Given the description of an element on the screen output the (x, y) to click on. 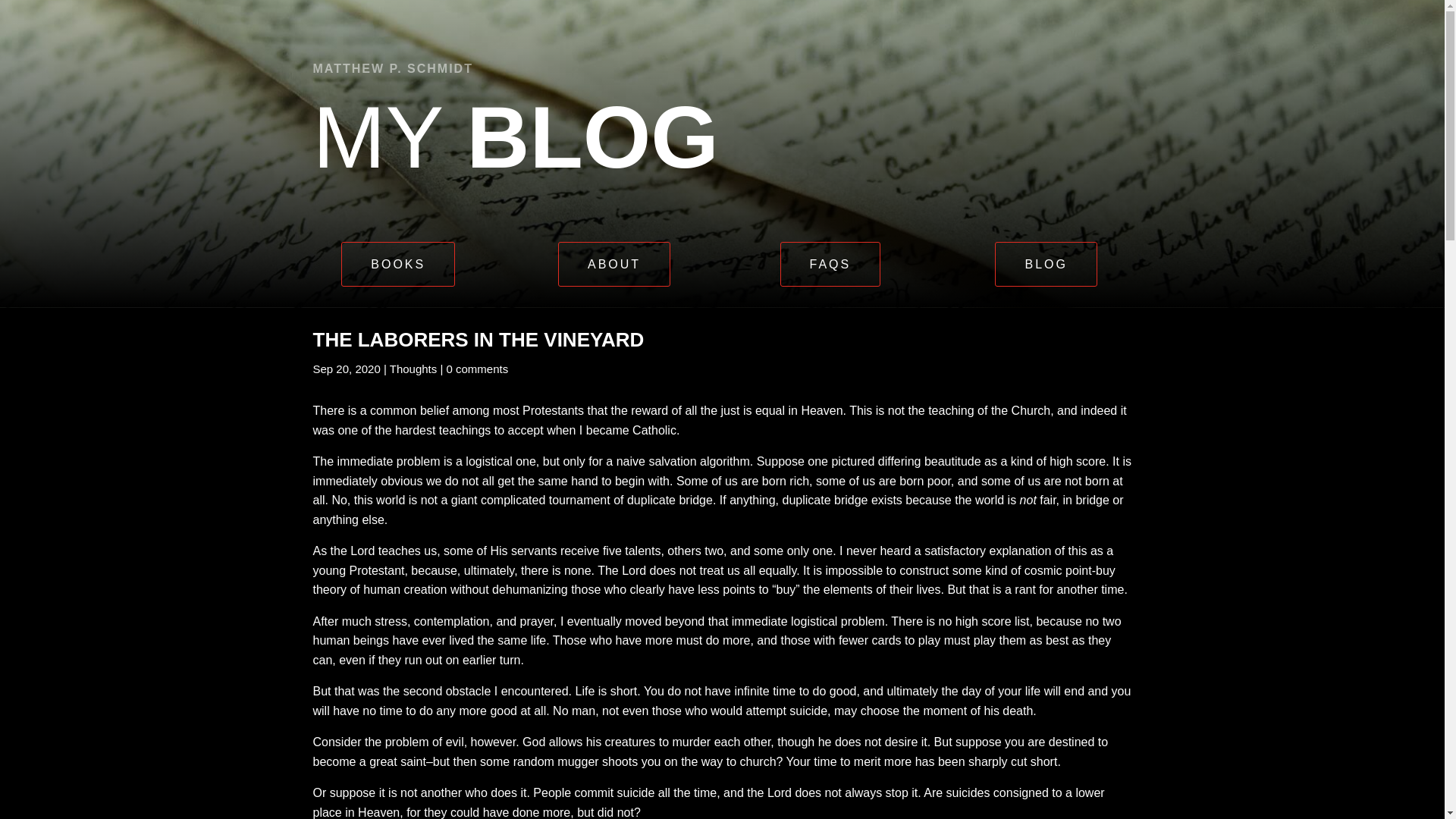
BLOG (1045, 263)
ABOUT (613, 263)
0 comments (476, 368)
BOOKS (397, 263)
Thoughts (414, 368)
FAQS (830, 263)
